Given the description of an element on the screen output the (x, y) to click on. 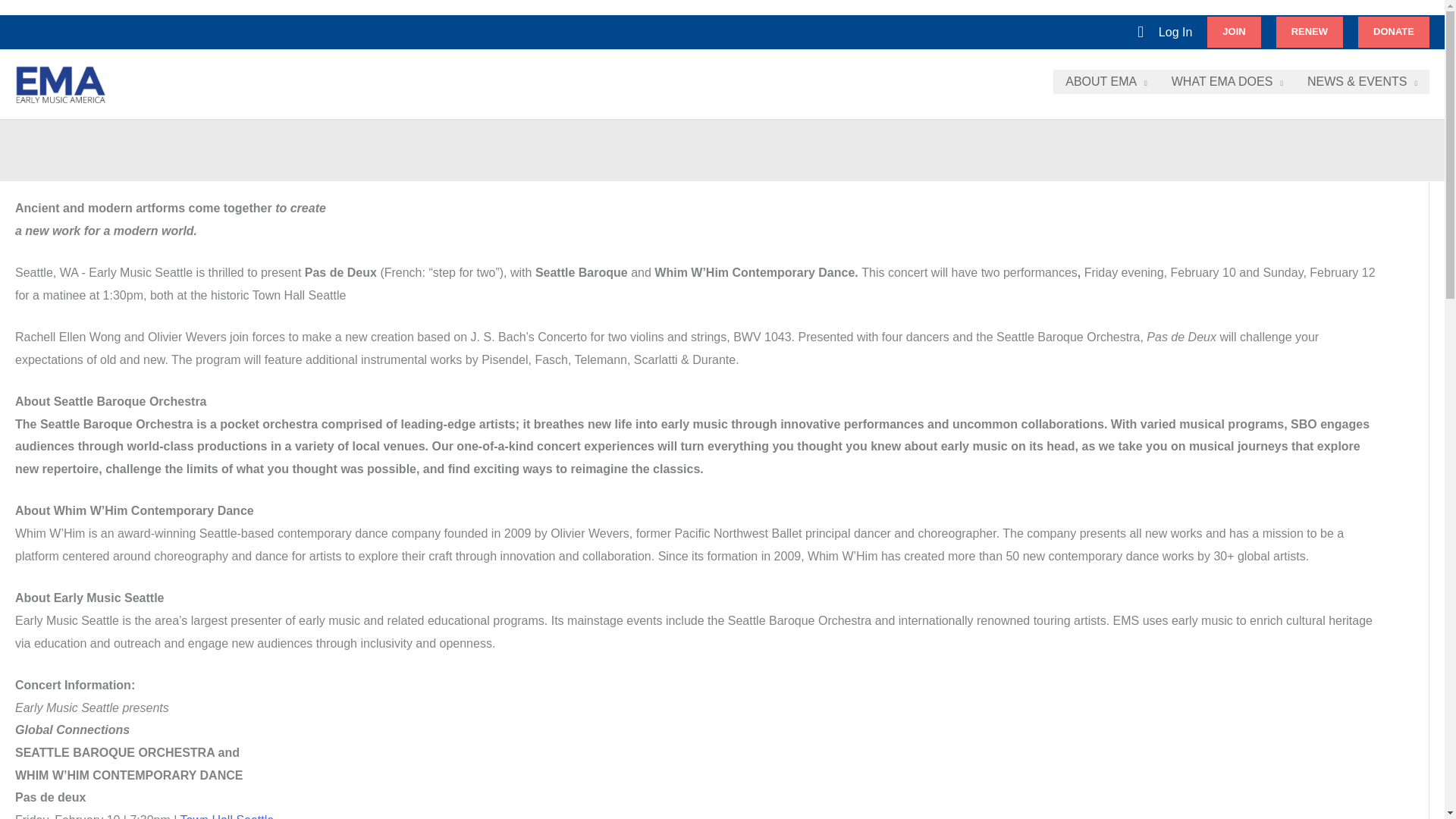
DONATE (1393, 31)
Log In (1175, 32)
RENEW (1309, 31)
JOIN (1233, 31)
ABOUT EMA (1105, 81)
